Given the description of an element on the screen output the (x, y) to click on. 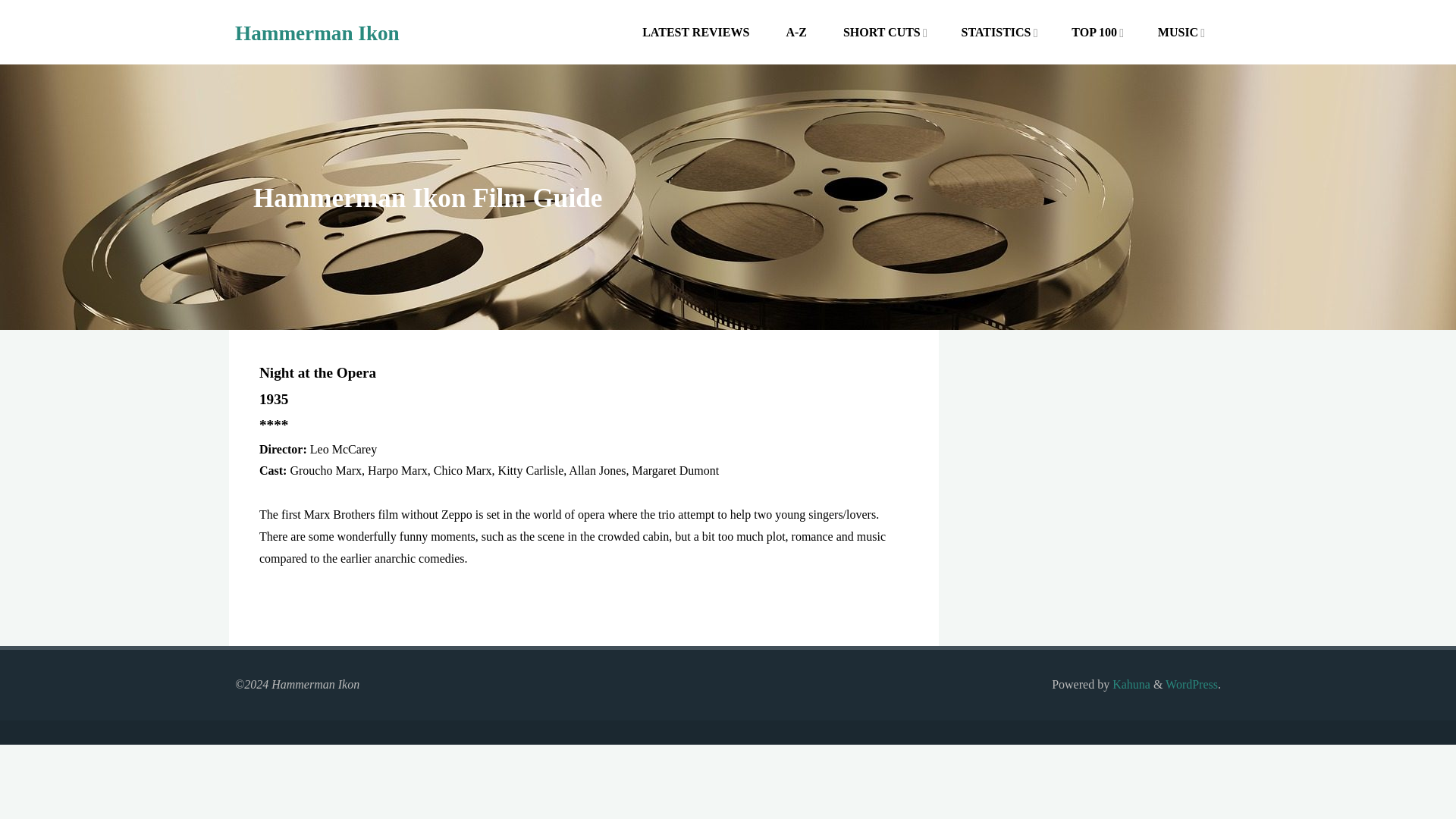
STATISTICS (995, 32)
SHORT CUTS (882, 32)
Semantic Personal Publishing Platform (1191, 684)
Hammerman Ikon (316, 33)
Kahuna WordPress Theme by Cryout Creations (1129, 684)
LATEST REVIEWS (696, 32)
